Given the description of an element on the screen output the (x, y) to click on. 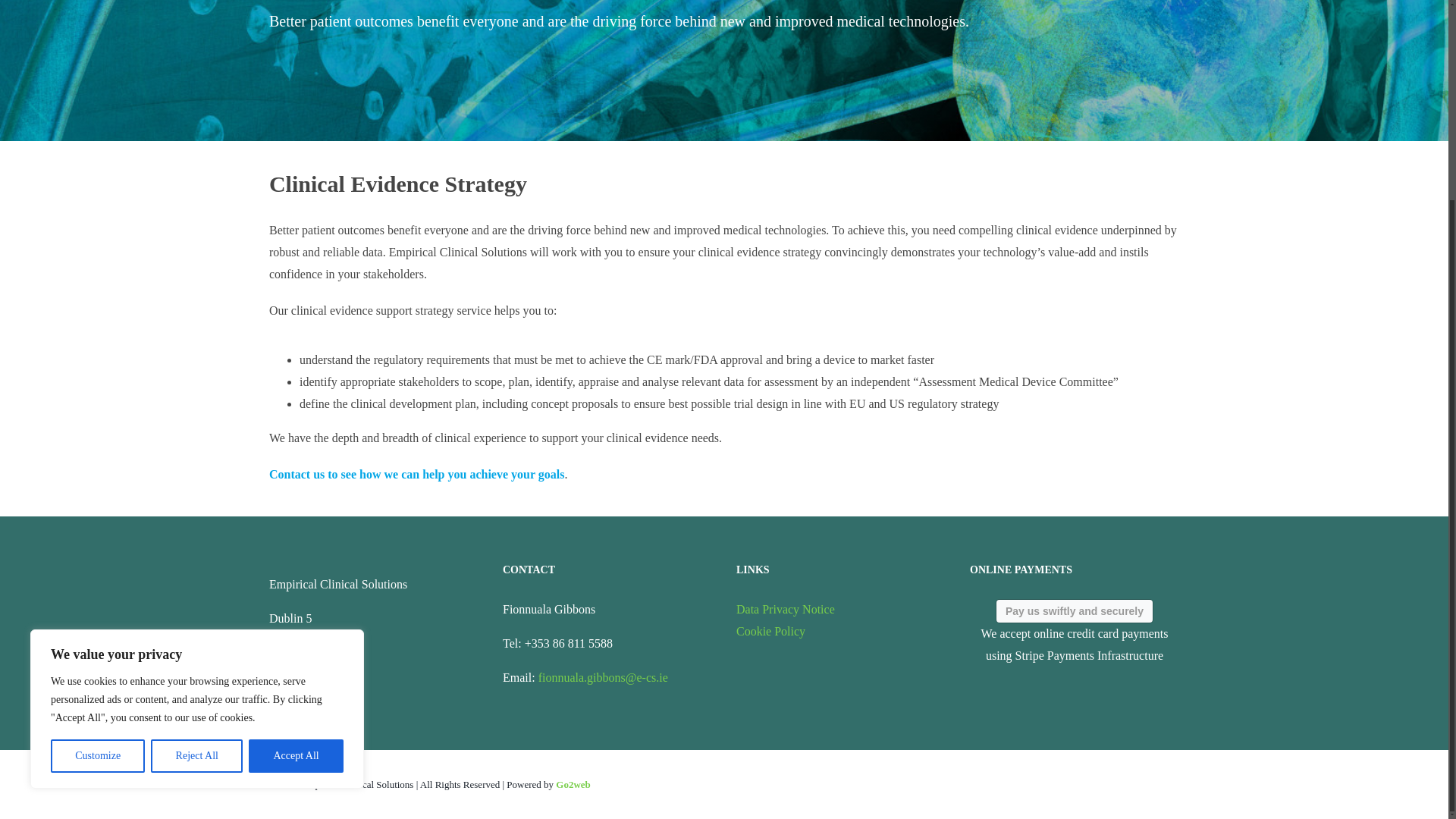
Accept All (295, 497)
Reject All (197, 497)
Customize (97, 497)
